Given the description of an element on the screen output the (x, y) to click on. 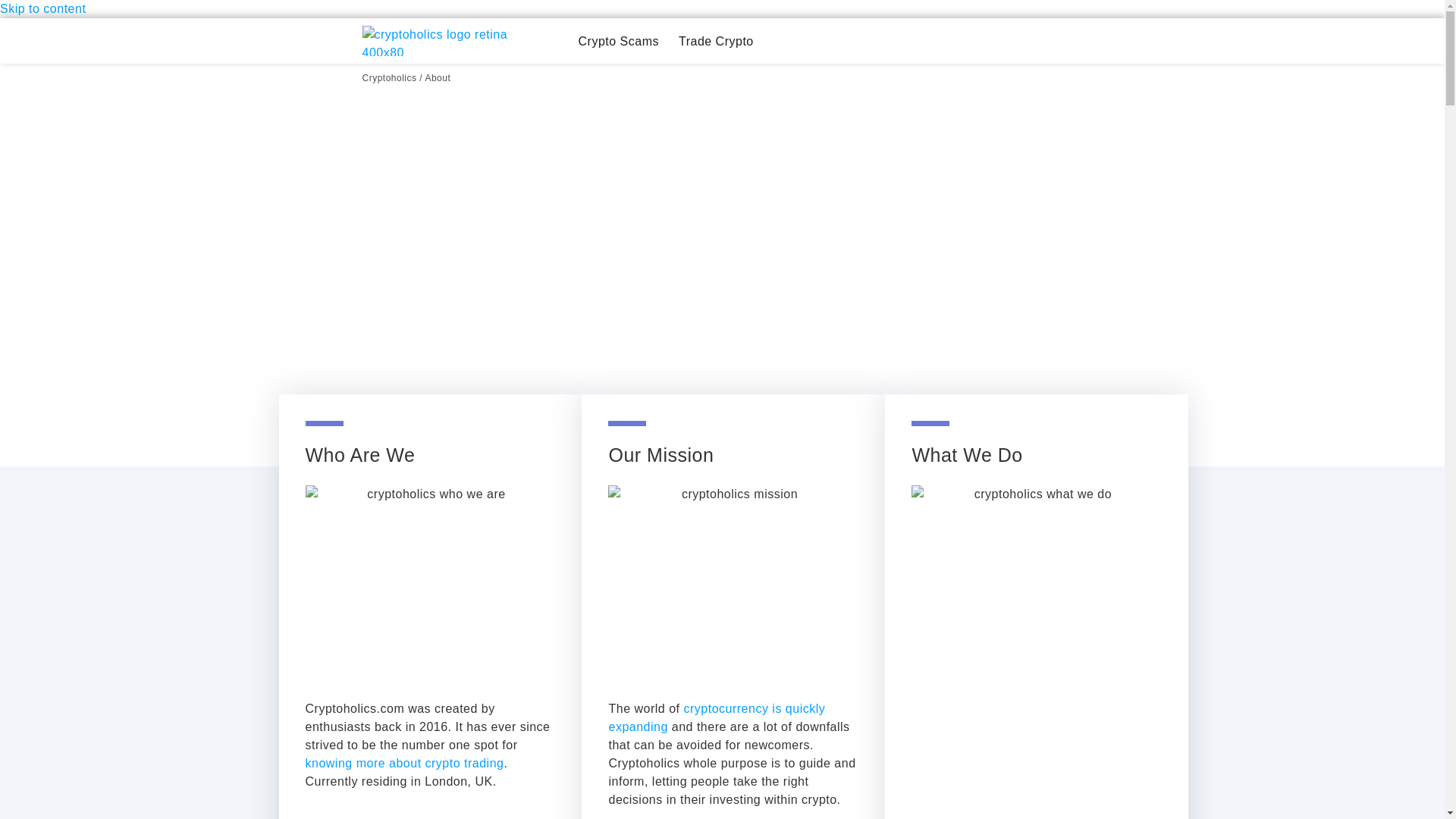
Crypto Scams (618, 41)
Skip to content (42, 8)
cryptoholics who we are - About (429, 585)
Trade Crypto (716, 41)
cryptoholics mission - About (733, 585)
cryptoholics what we do - About (1036, 585)
